Given the description of an element on the screen output the (x, y) to click on. 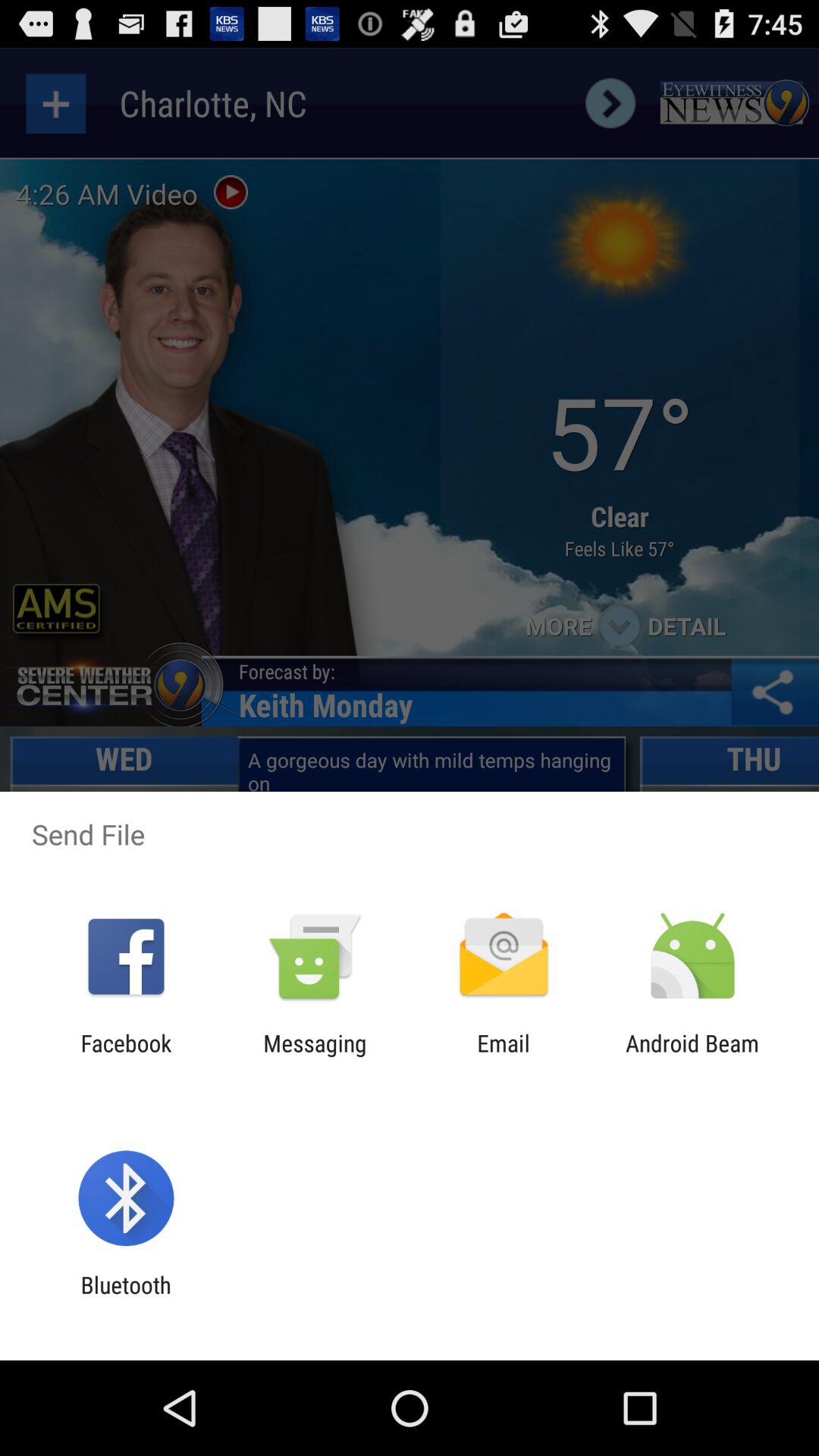
turn off icon to the left of email item (314, 1056)
